Given the description of an element on the screen output the (x, y) to click on. 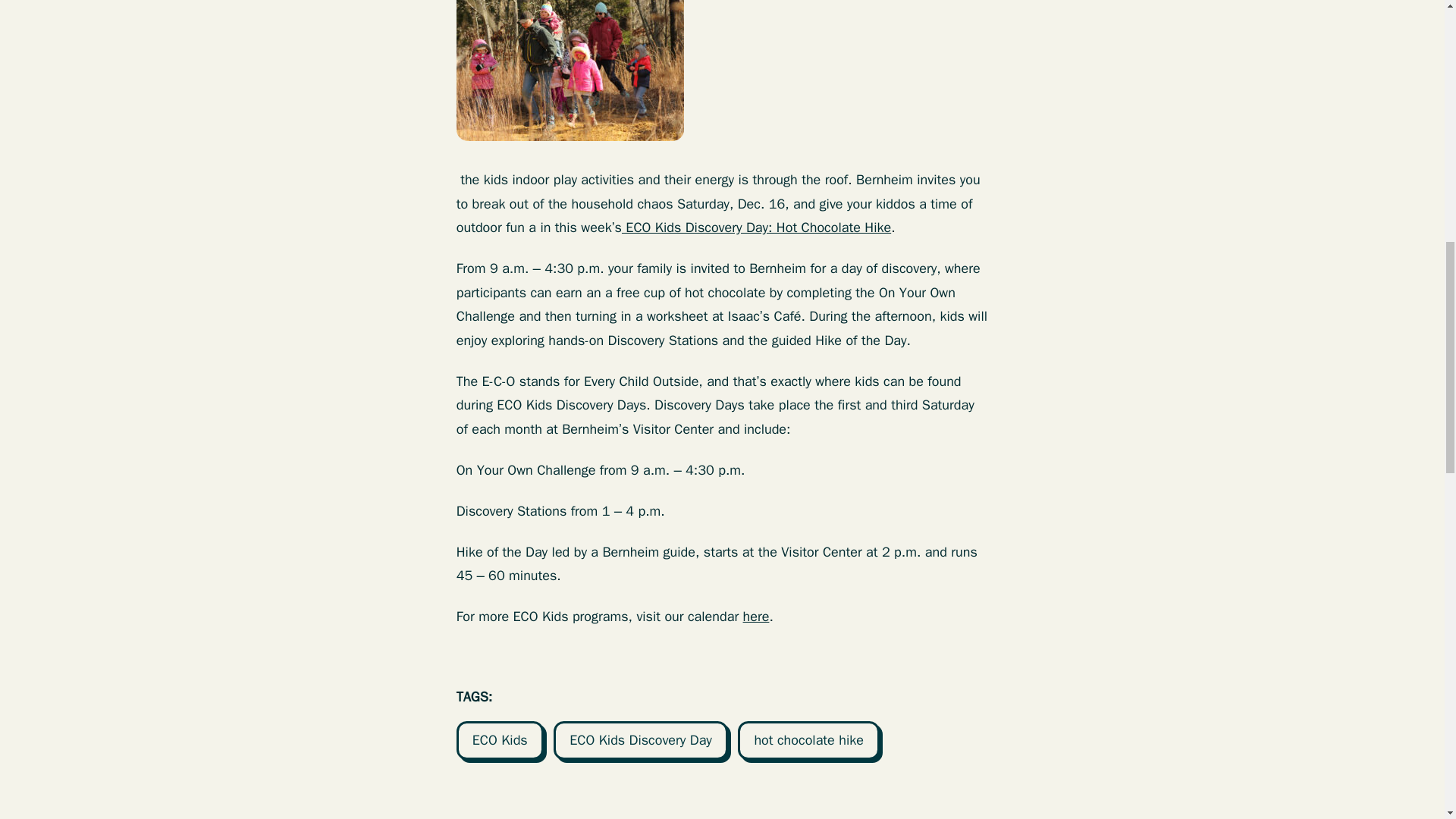
ECO Kids (500, 740)
here (756, 616)
hot chocolate hike (808, 740)
ECO Kids Discovery Day (640, 740)
ECO Kids Discovery Day: Hot Chocolate Hike (756, 227)
